Given the description of an element on the screen output the (x, y) to click on. 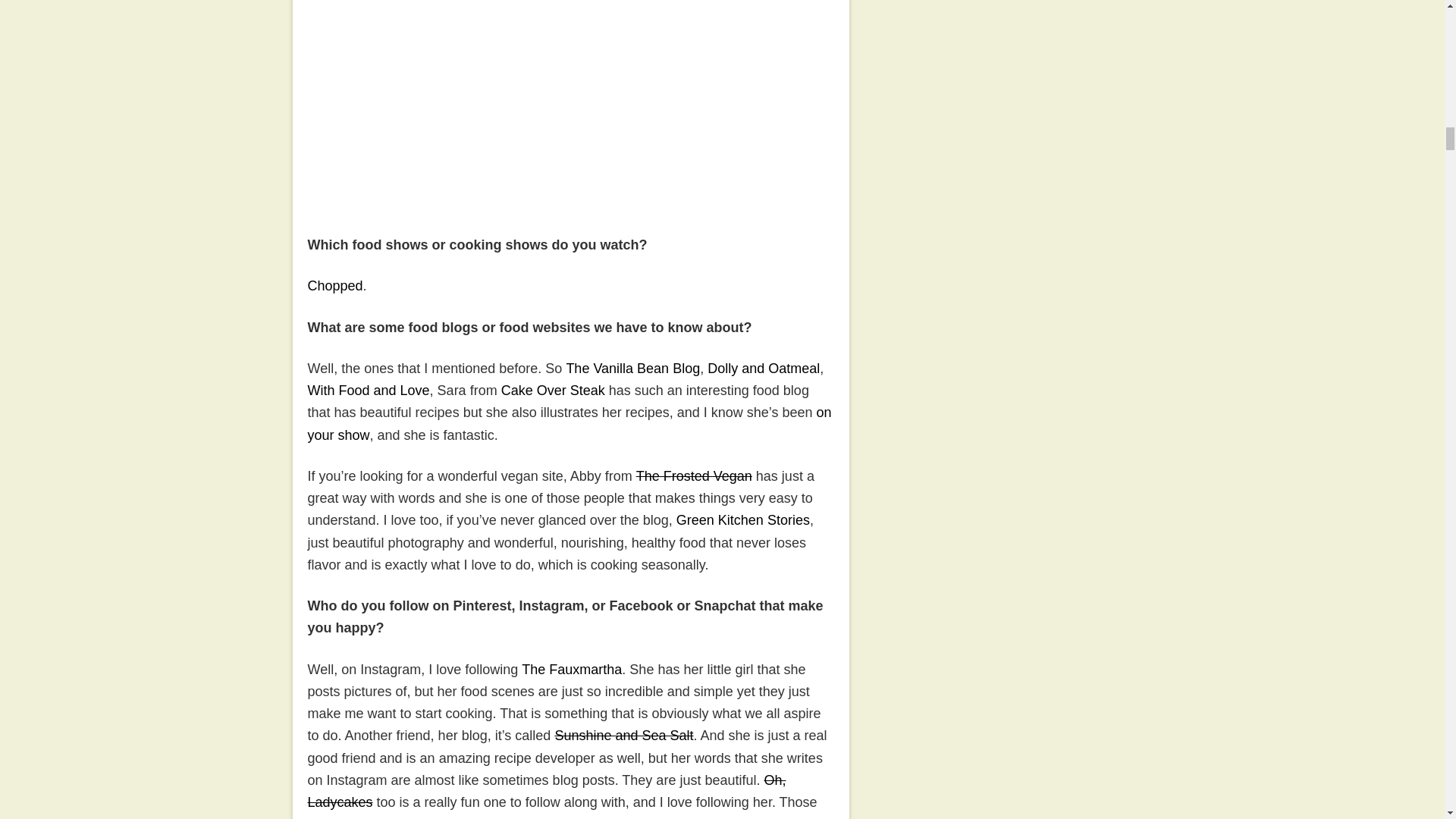
Green Kitchen Stories (743, 519)
The Fauxmartha (571, 669)
Sunshine and Sea Salt (623, 735)
Oh, Ladycakes (546, 791)
With Food and Love (368, 390)
The Frosted Vegan (694, 476)
on your show (569, 423)
Dolly and Oatmeal (763, 368)
Cake Over Steak (552, 390)
Chopped (334, 285)
The Vanilla Bean Blog (633, 368)
